Given the description of an element on the screen output the (x, y) to click on. 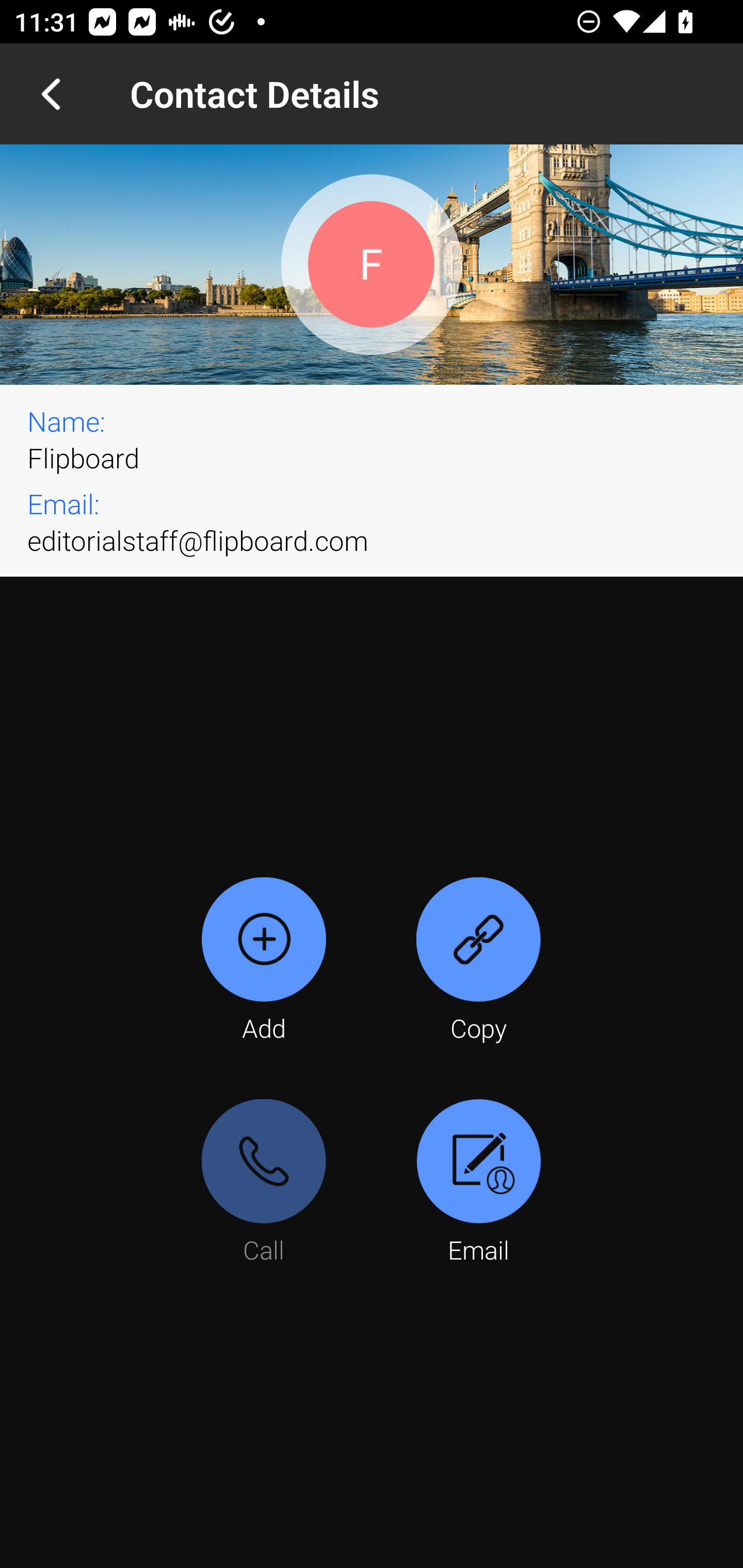
Navigate up (50, 93)
Add (264, 961)
Copy (478, 961)
Call (264, 1182)
Email (478, 1182)
